Given the description of an element on the screen output the (x, y) to click on. 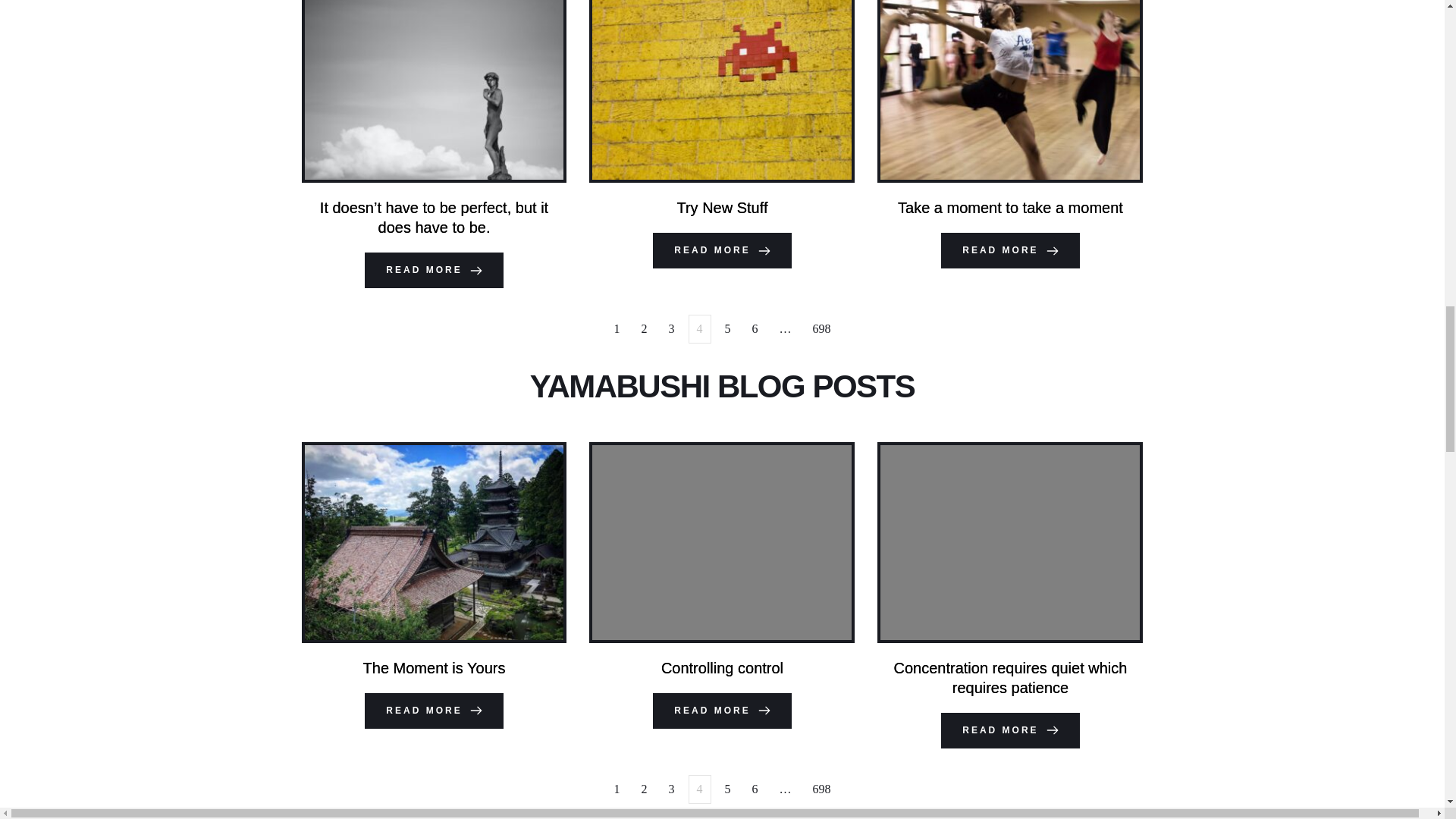
READ MORE (721, 250)
READ MORE (1009, 730)
READ MORE (433, 270)
READ MORE (433, 710)
698 (821, 329)
READ MORE (721, 710)
READ MORE (1009, 250)
